Given the description of an element on the screen output the (x, y) to click on. 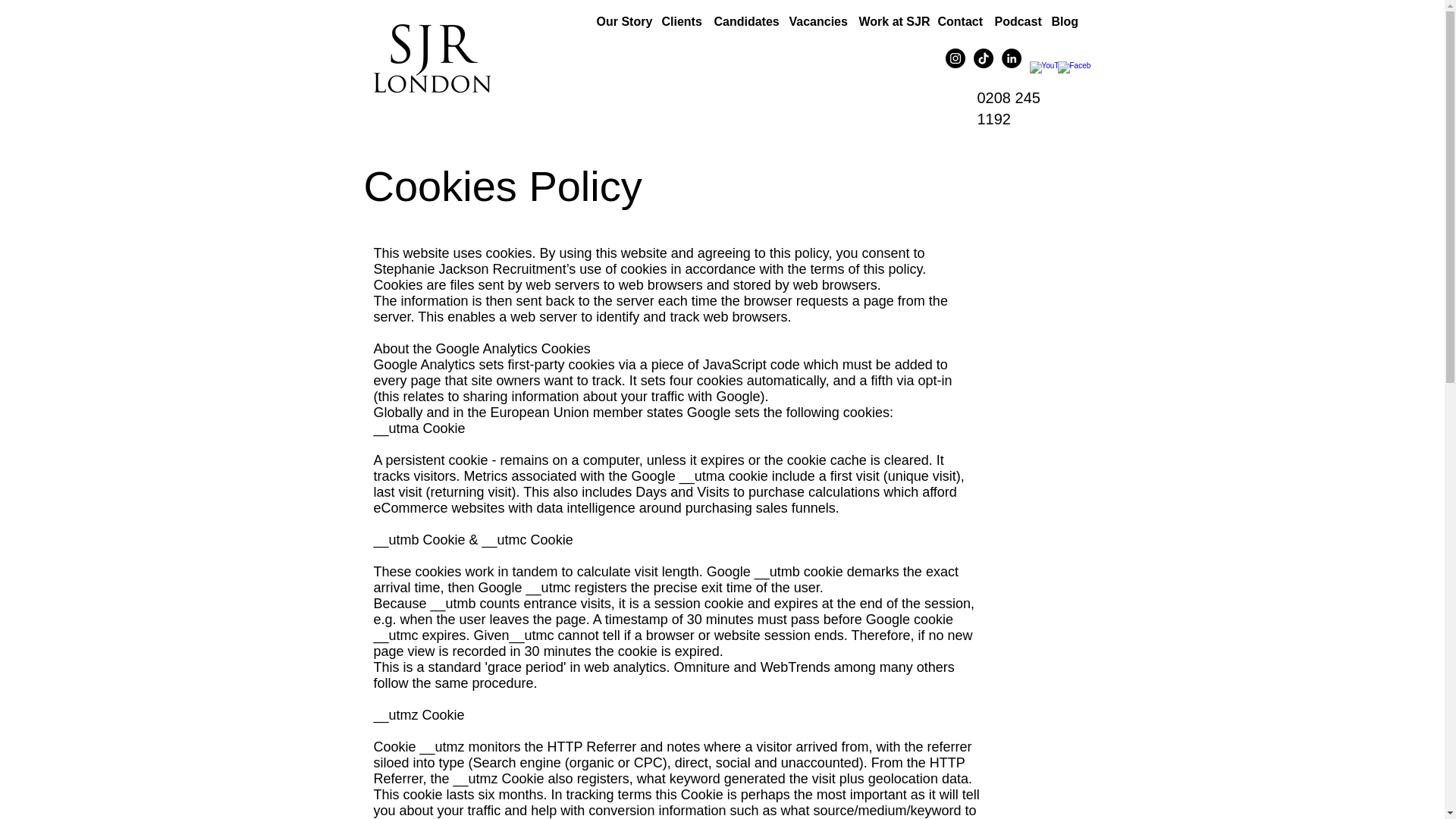
Vacancies (815, 21)
0208 245 1192 (1007, 108)
Blog (1063, 21)
Work at SJR (890, 21)
Our Story (620, 21)
Contact (958, 21)
Clients (679, 21)
Candidates (743, 21)
Podcast (1015, 21)
